Given the description of an element on the screen output the (x, y) to click on. 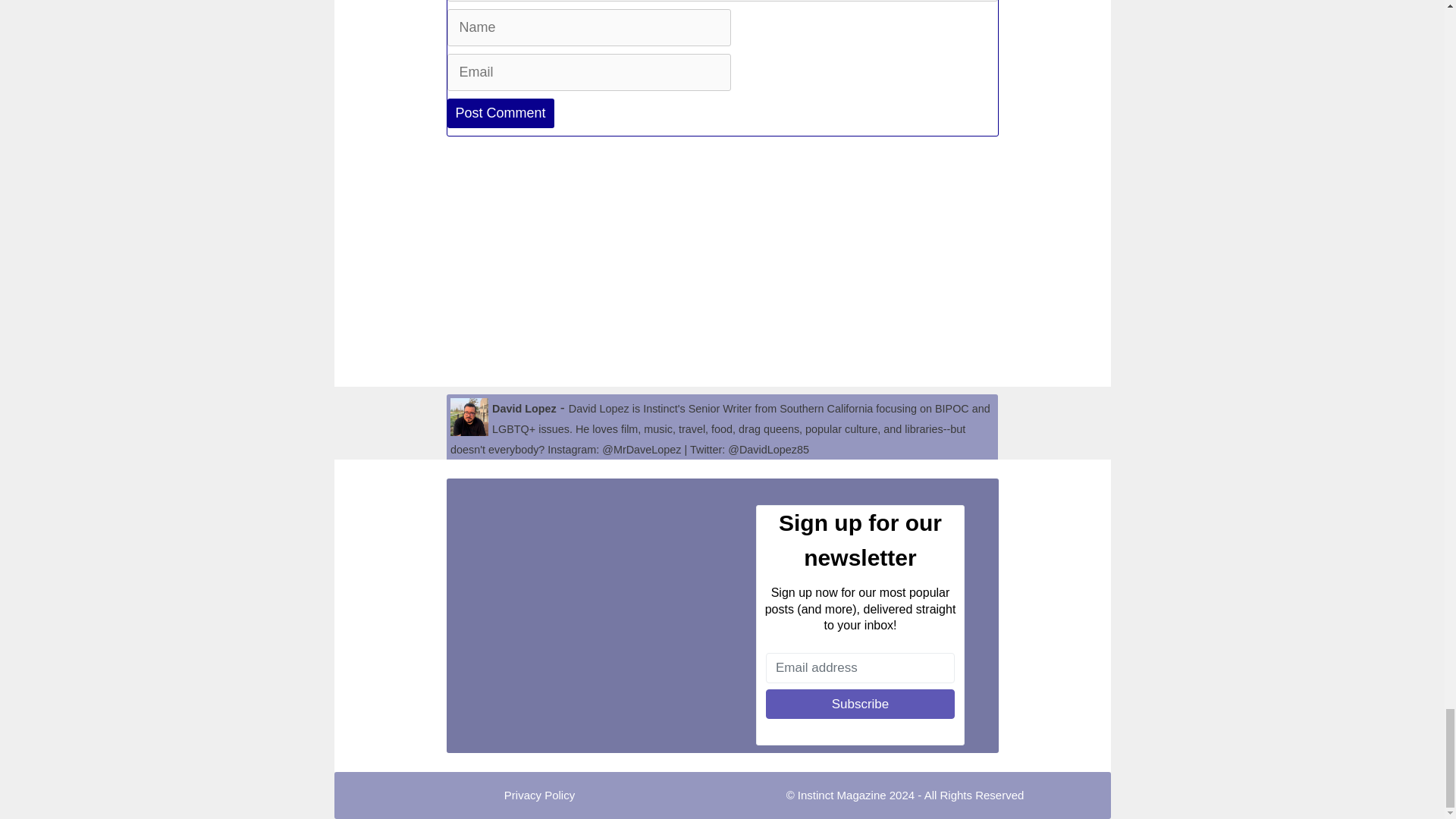
View all posts by David Lopez (524, 408)
Post Comment (500, 112)
Subscribe (860, 704)
